Given the description of an element on the screen output the (x, y) to click on. 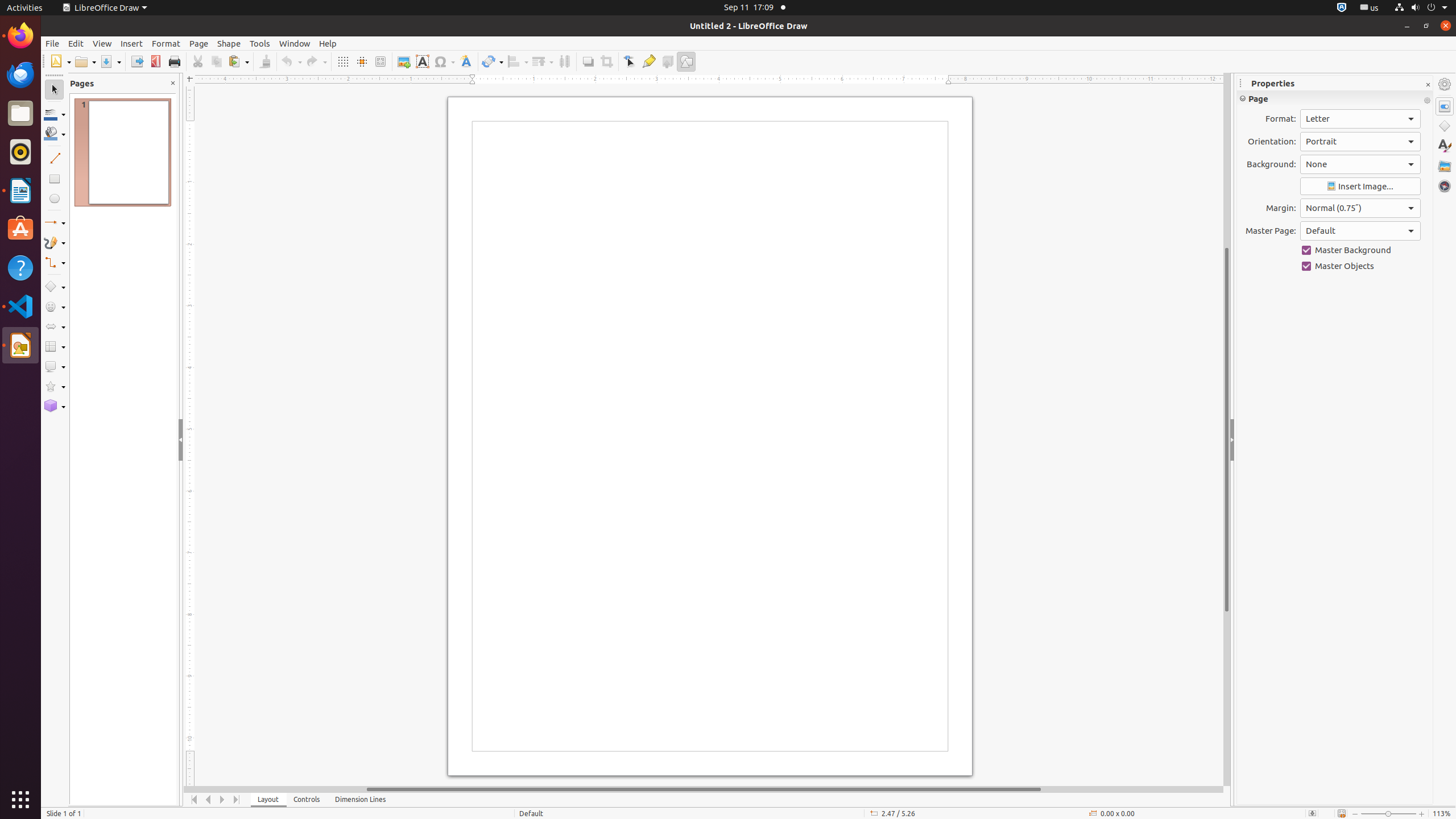
Grid Element type: toggle-button (342, 61)
Transformations Element type: push-button (492, 61)
Close Pane Element type: push-button (172, 82)
Fontwork Style Element type: toggle-button (465, 61)
Styles Element type: radio-button (1444, 146)
